Given the description of an element on the screen output the (x, y) to click on. 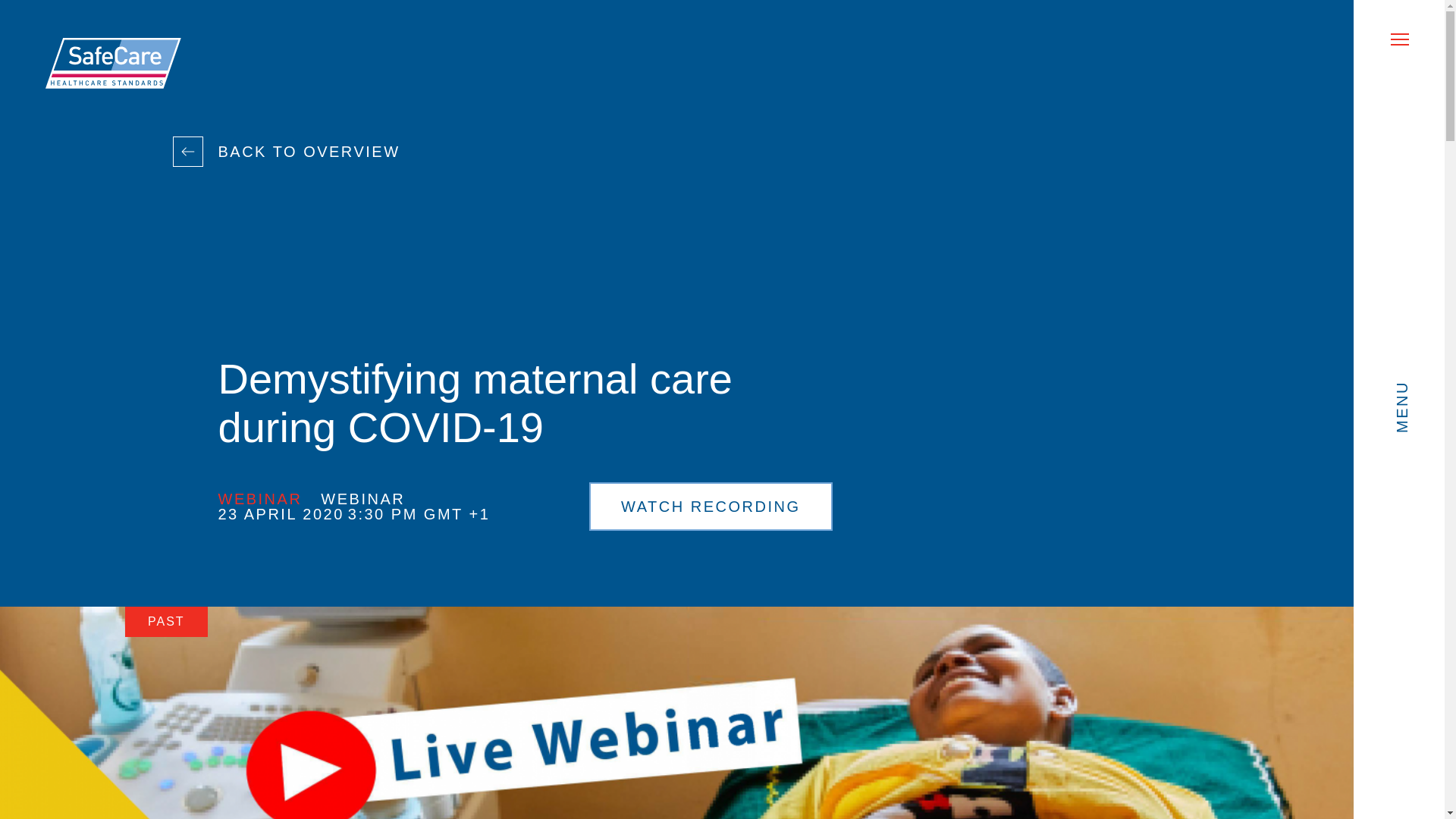
BACK TO OVERVIEW (309, 151)
WATCH RECORDING (710, 506)
